Given the description of an element on the screen output the (x, y) to click on. 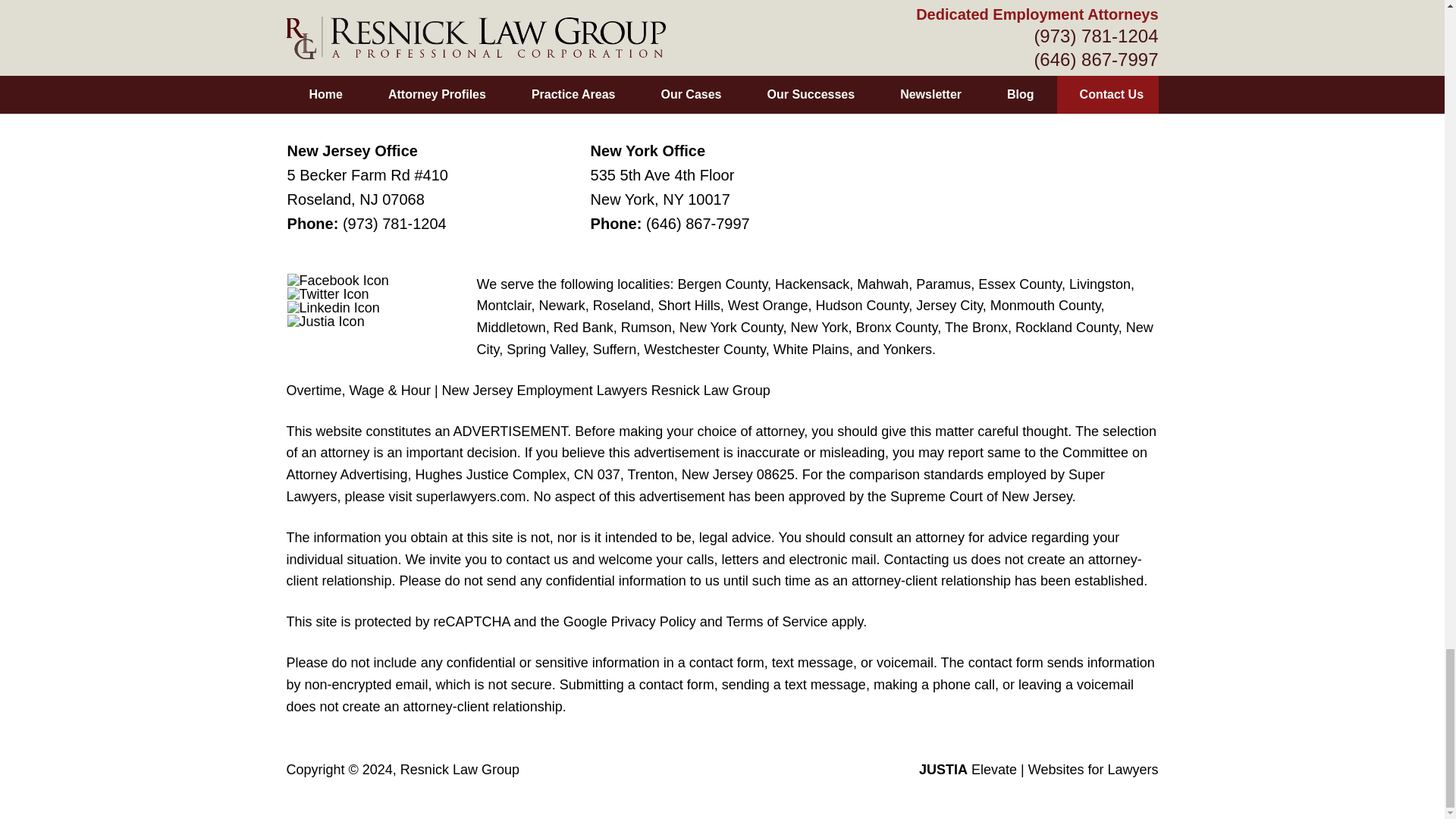
Linkedin (333, 307)
Facebook (337, 280)
Twitter (327, 294)
Justia (325, 321)
